Given the description of an element on the screen output the (x, y) to click on. 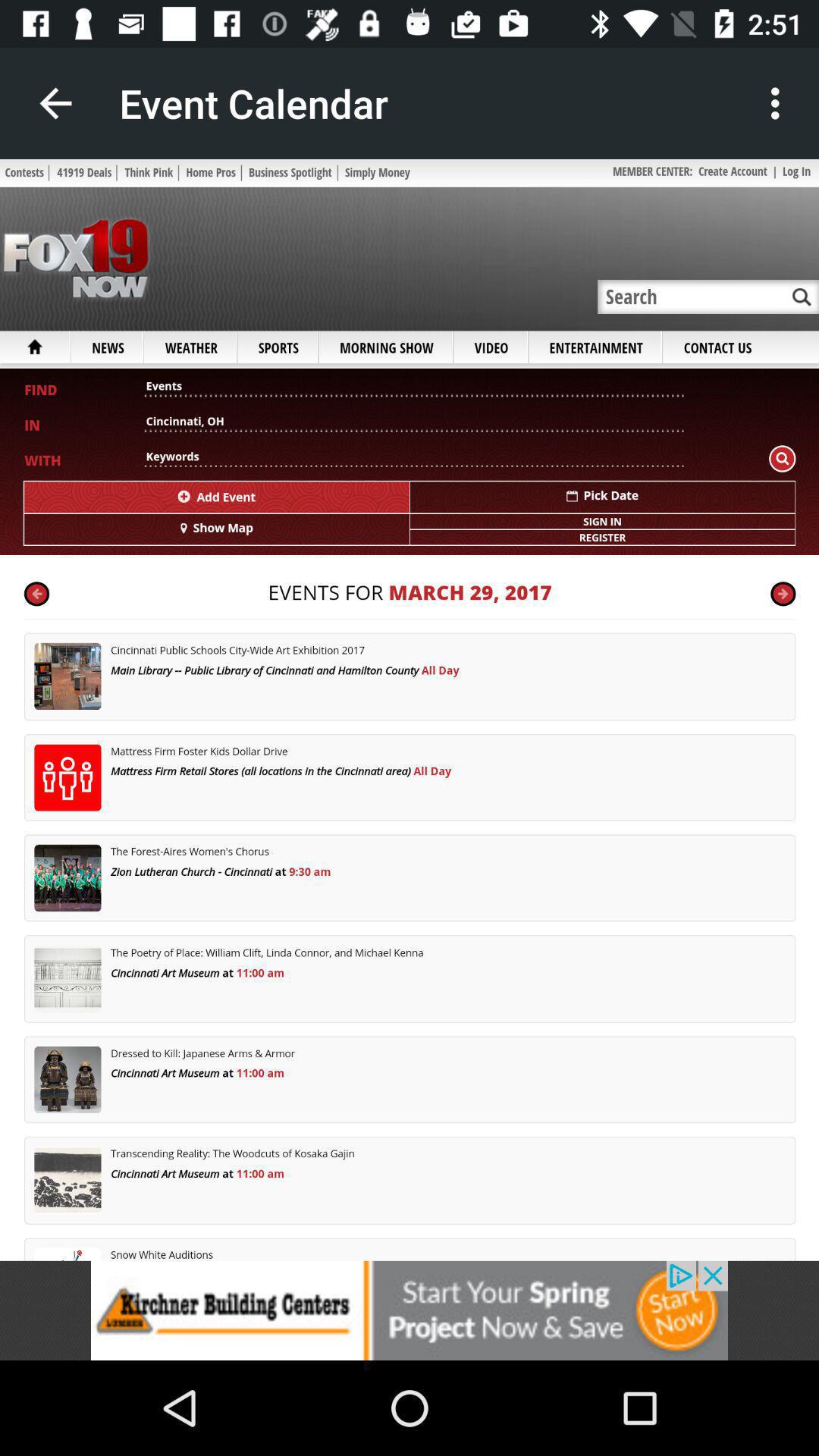
go to addverdisment (409, 1310)
